Given the description of an element on the screen output the (x, y) to click on. 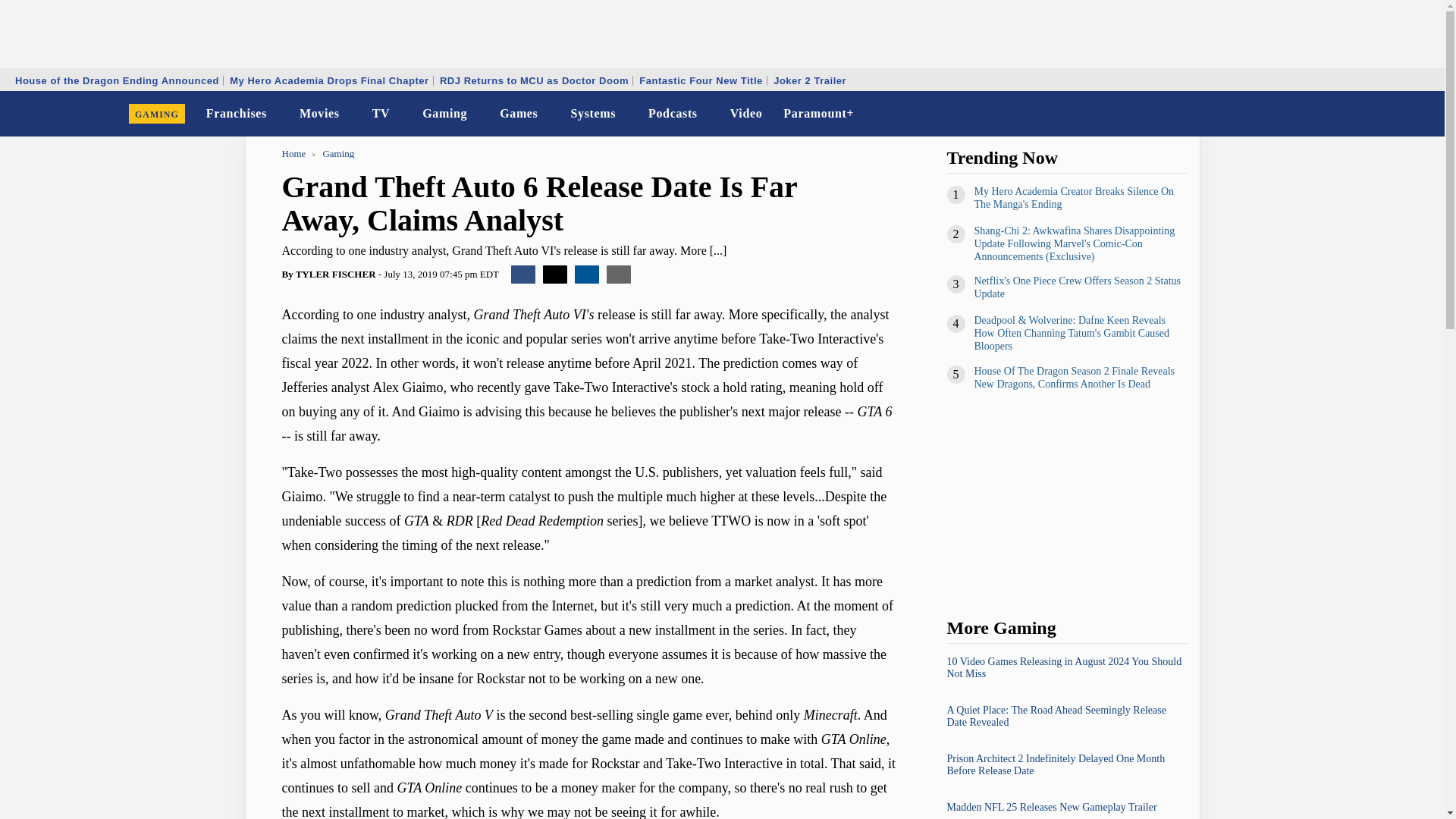
Fantastic Four New Title (700, 80)
Movies (320, 113)
Joker 2 Trailer (810, 80)
Gaming (444, 113)
RDJ Returns to MCU as Doctor Doom (533, 80)
Search (1422, 114)
My Hero Academia Drops Final Chapter (328, 80)
House of the Dragon Ending Announced (116, 80)
Dark Mode (1394, 113)
GAMING (157, 113)
